Given the description of an element on the screen output the (x, y) to click on. 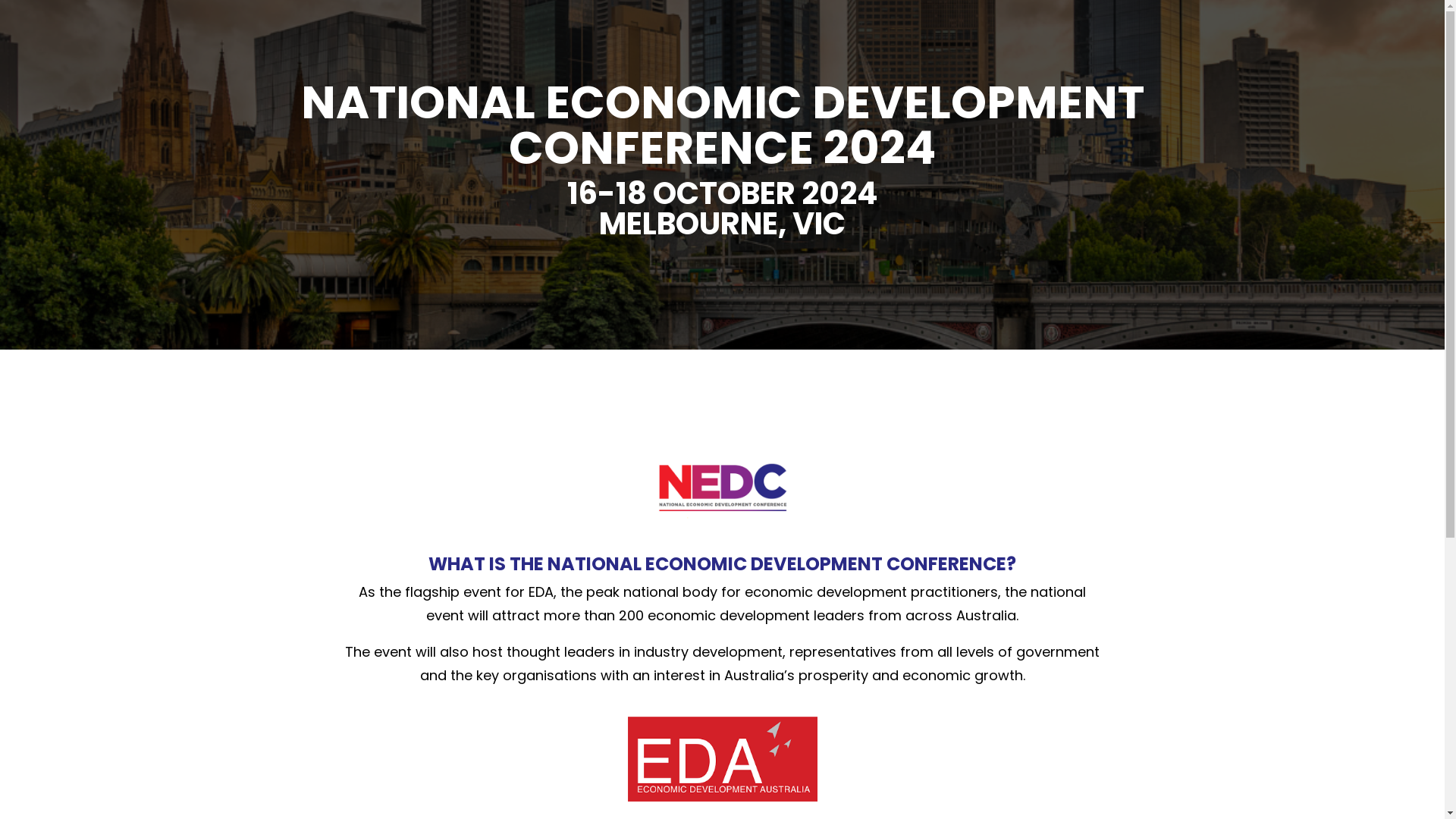
NEDC23 speakers (3) Element type: hover (722, 492)
economic development Element type: hover (722, 758)
